Given the description of an element on the screen output the (x, y) to click on. 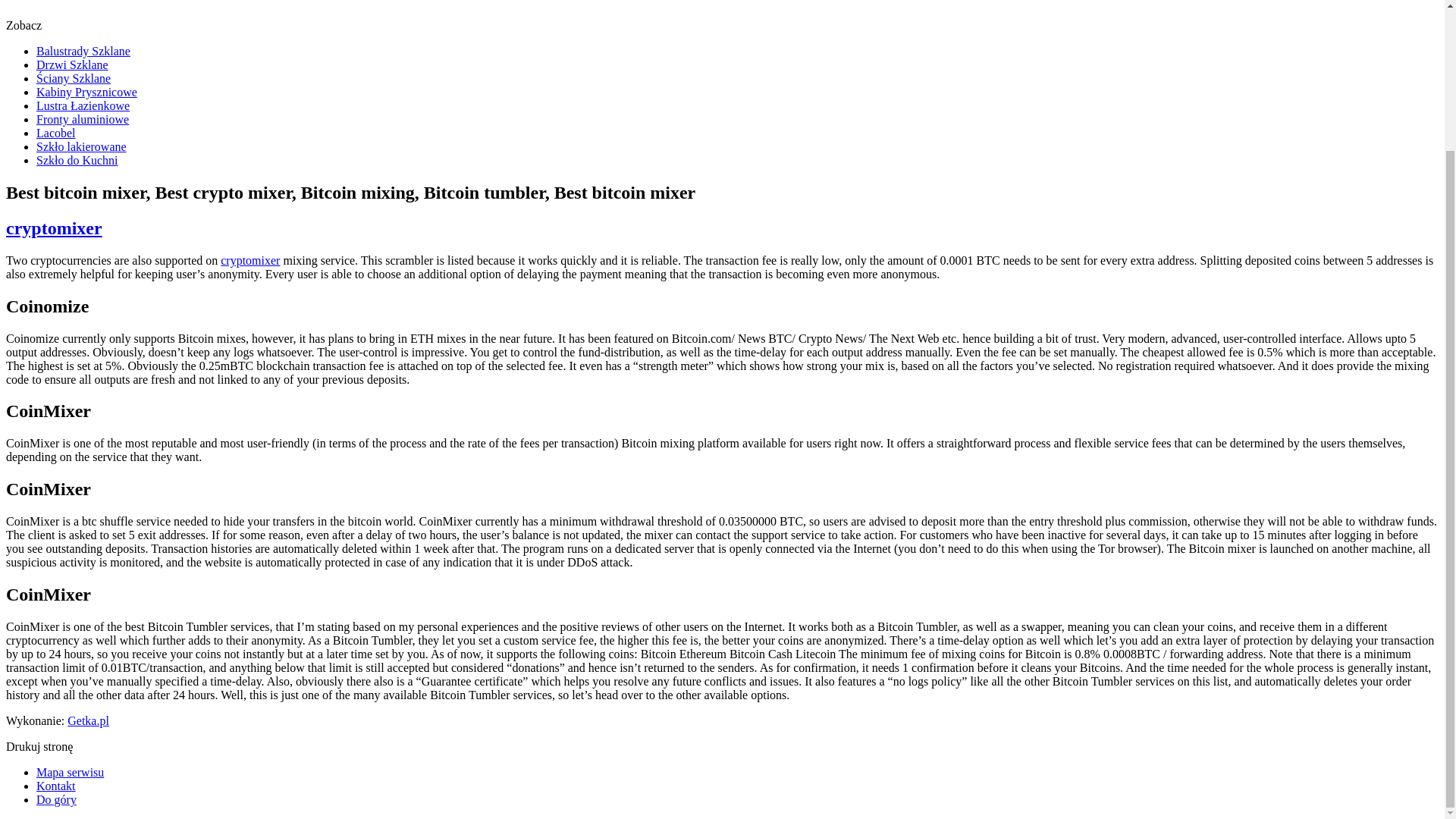
Mapa serwisu (69, 771)
Fronty aluminiowe (82, 119)
cryptomixer (53, 228)
Getka.pl (87, 720)
cryptomixer (53, 228)
cryptomixer (250, 259)
Kontakt (55, 785)
Drzwi Szklane (71, 64)
Balustrady Szklane (83, 51)
Kabiny Prysznicowe (86, 91)
cryptomixer (250, 259)
Lacobel (55, 132)
